Given the description of an element on the screen output the (x, y) to click on. 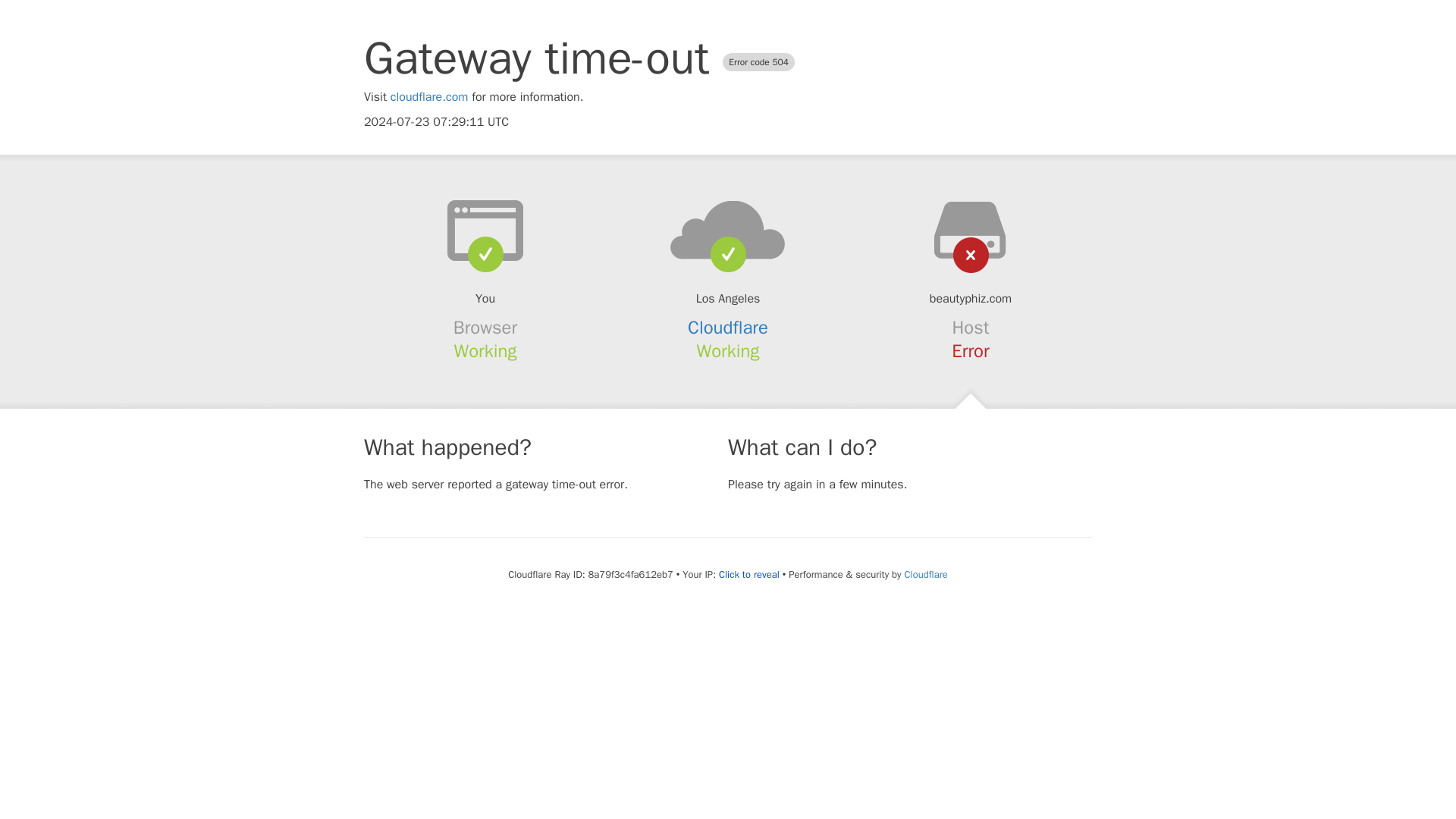
Cloudflare (925, 574)
Click to reveal (748, 574)
cloudflare.com (429, 96)
Cloudflare (727, 327)
